Given the description of an element on the screen output the (x, y) to click on. 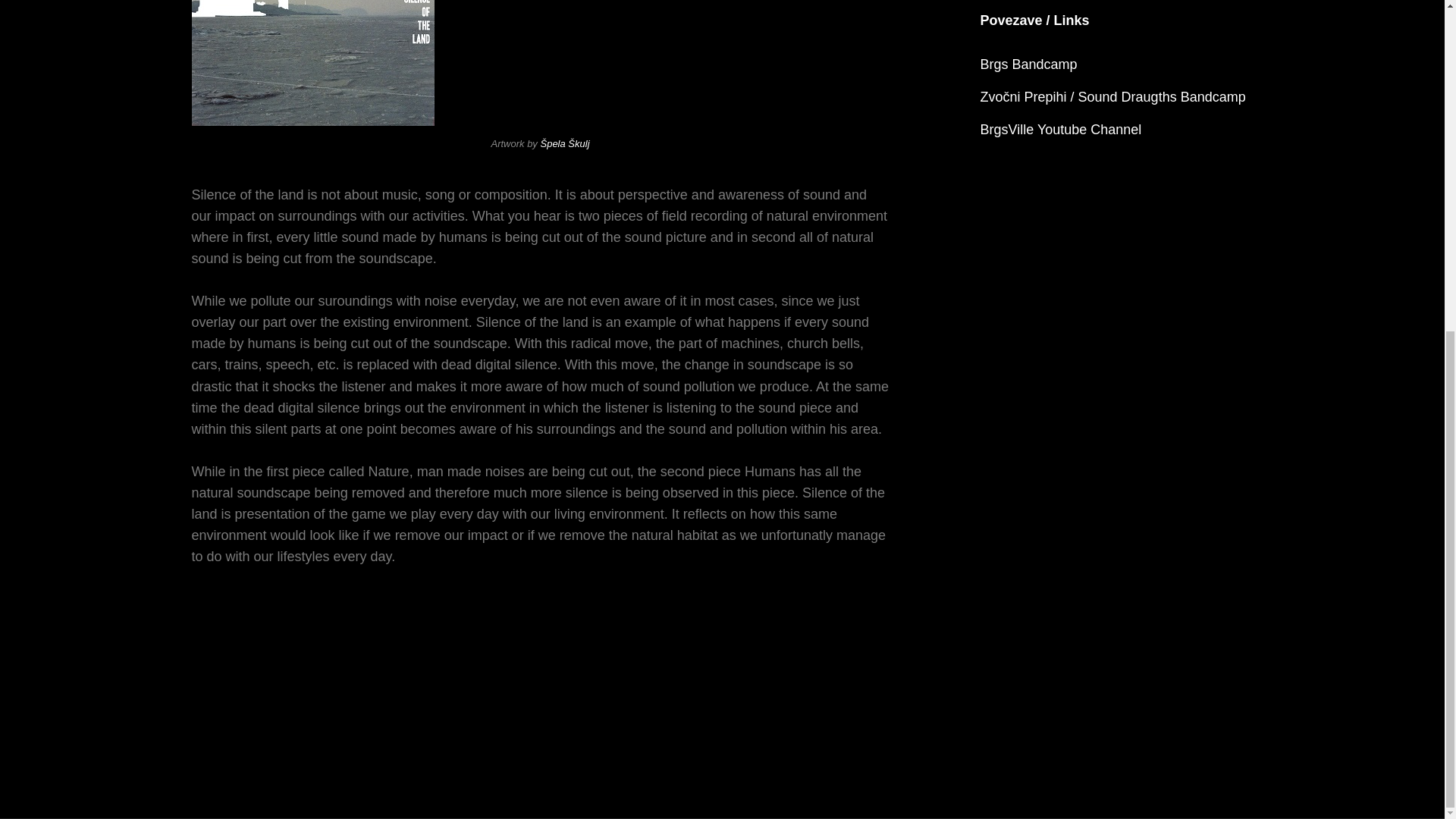
BrgsVille Youtube Channel (1060, 129)
Brgs Bandcamp (1028, 64)
